Given the description of an element on the screen output the (x, y) to click on. 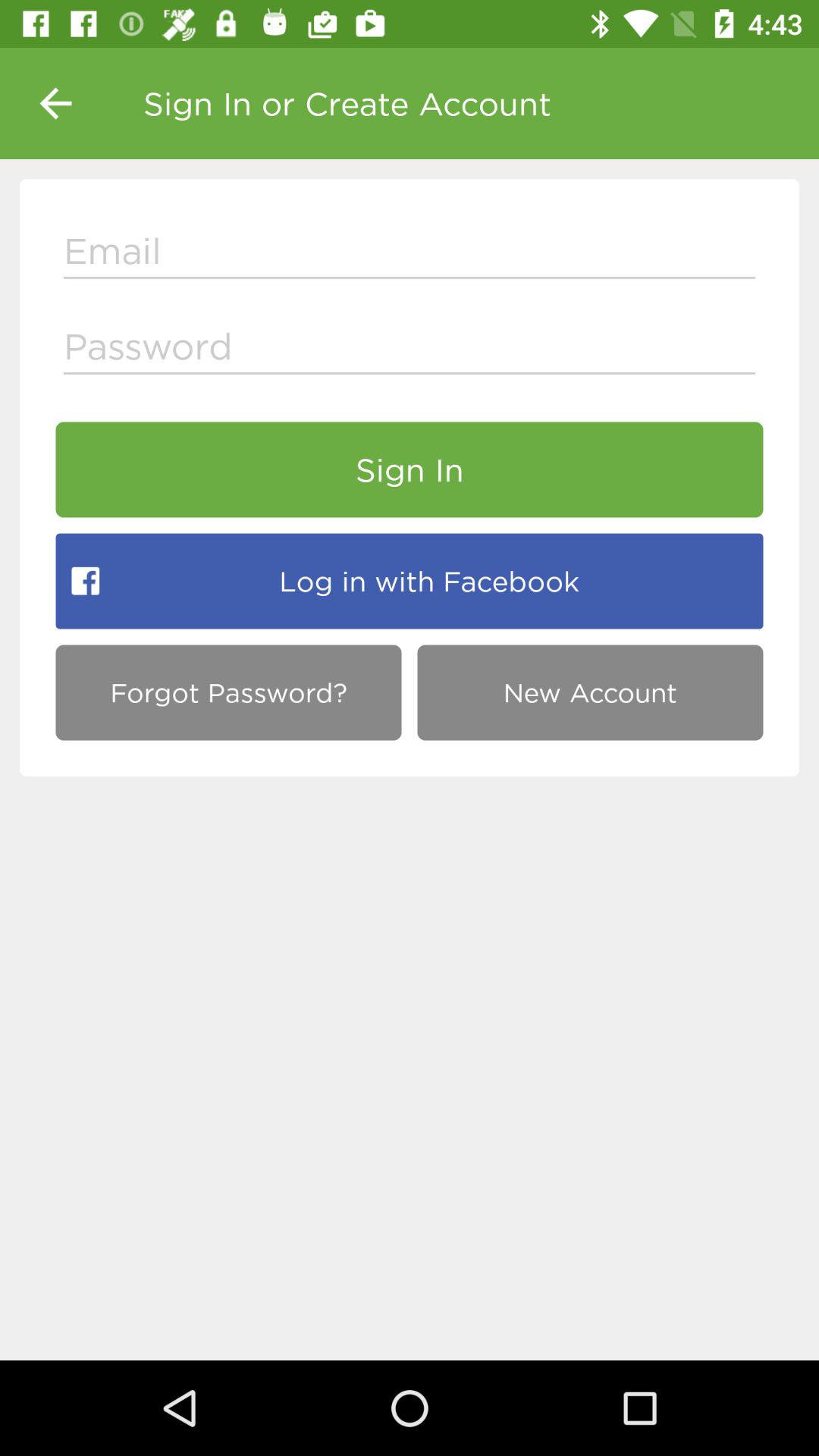
enter user password (409, 350)
